Given the description of an element on the screen output the (x, y) to click on. 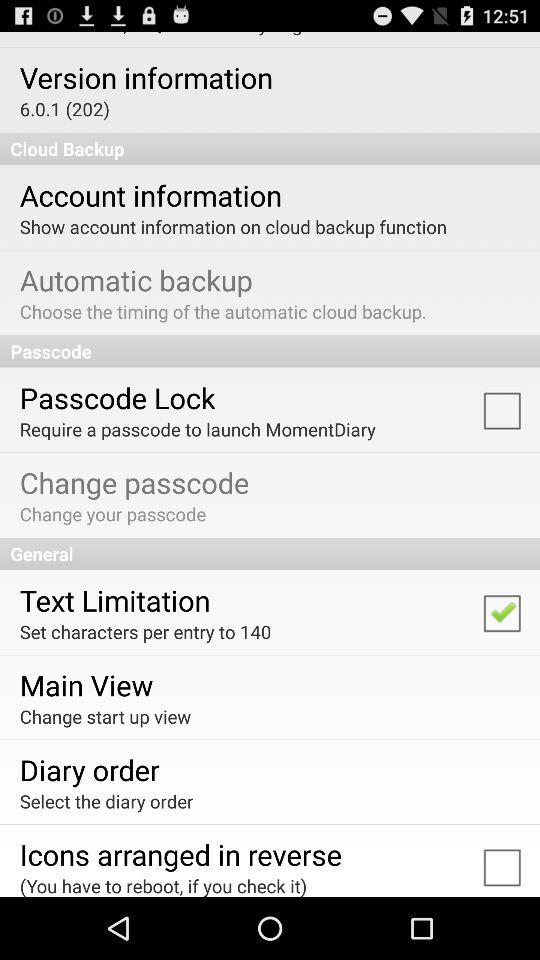
turn off the app below change your passcode (270, 553)
